Given the description of an element on the screen output the (x, y) to click on. 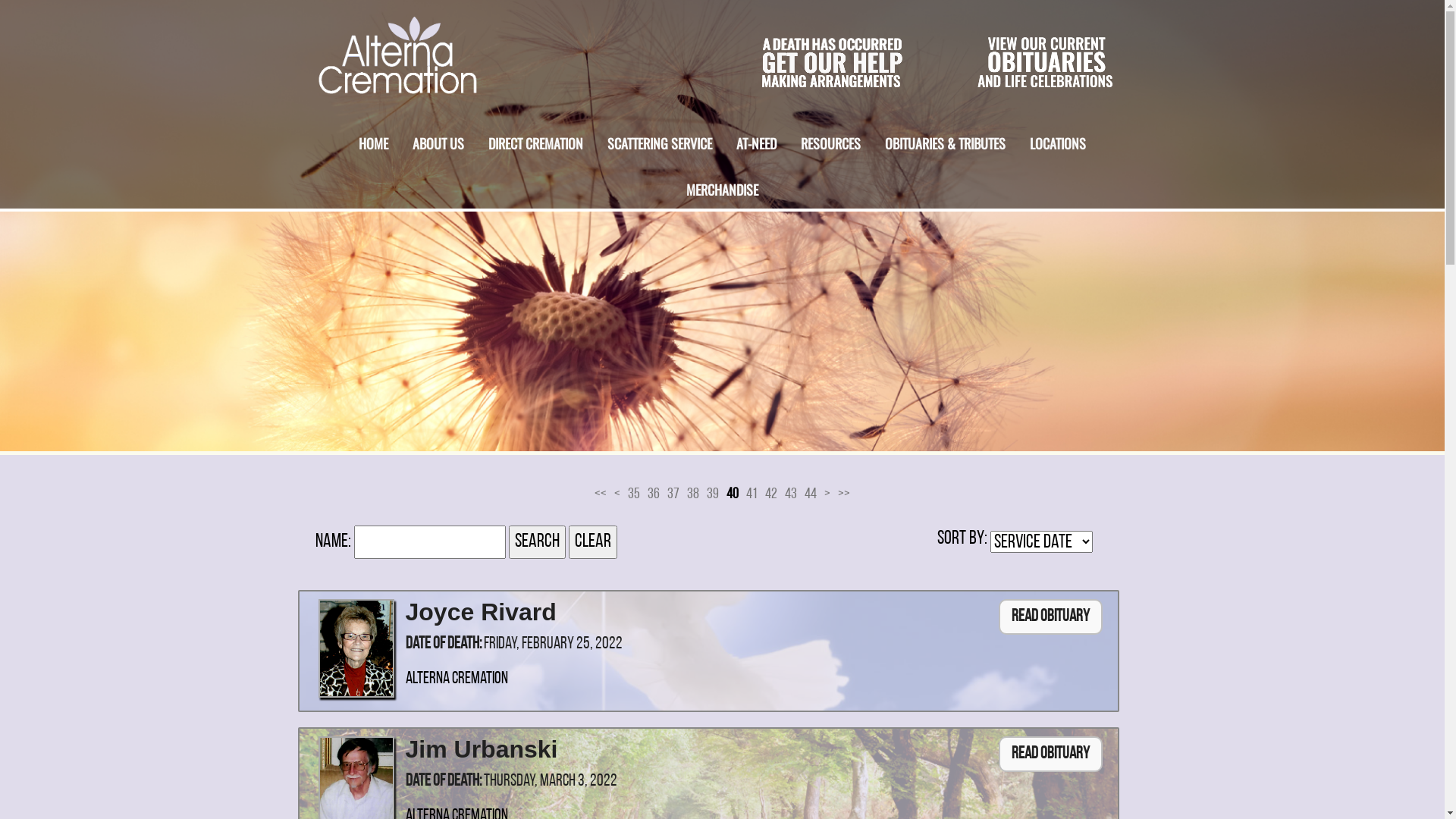
Joyce Rivard Element type: text (479, 611)
<< Element type: text (600, 494)
OBITUARIES & TRIBUTES Element type: text (944, 138)
>> Element type: text (843, 494)
42 Element type: text (771, 494)
Read Obituary Element type: text (1049, 753)
ABOUT US Element type: text (438, 138)
44 Element type: text (810, 494)
36 Element type: text (653, 494)
< Element type: text (617, 494)
RESOURCES Element type: text (829, 138)
> Element type: text (827, 494)
SCATTERING SERVICE Element type: text (659, 138)
LOCATIONS Element type: text (1057, 138)
43 Element type: text (790, 494)
37 Element type: text (673, 494)
AT-NEED Element type: text (755, 138)
Jim Urbanski Element type: text (480, 748)
MERCHANDISE Element type: text (721, 184)
DIRECT CREMATION Element type: text (536, 138)
Read Obituary Element type: text (1049, 616)
39 Element type: text (712, 494)
35 Element type: text (633, 494)
38 Element type: text (692, 494)
HOME Element type: text (373, 138)
41 Element type: text (751, 494)
